Given the description of an element on the screen output the (x, y) to click on. 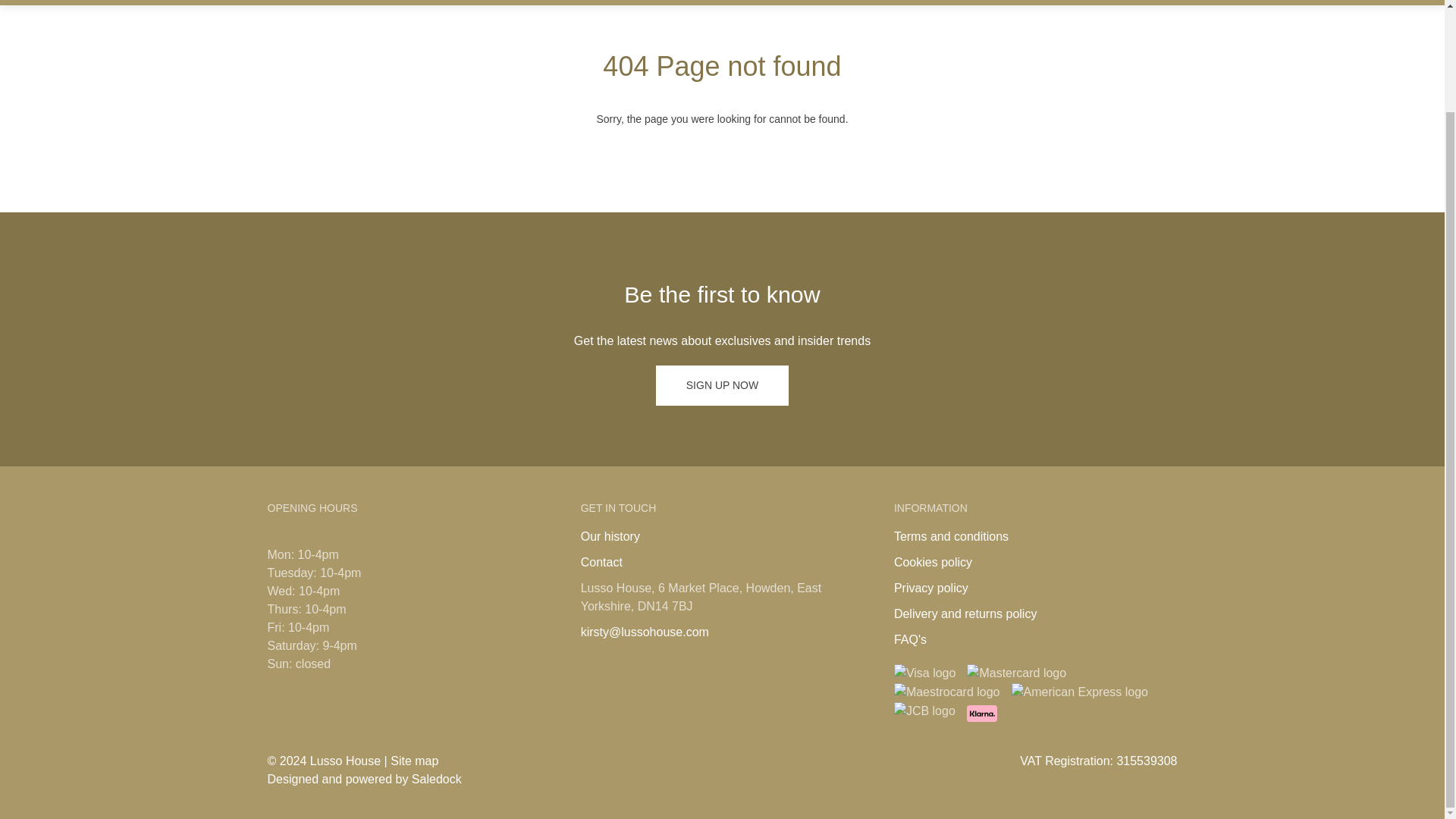
CANDLES AND DIFFUSERS (542, 2)
HOME ACCESSORIES (394, 2)
ARTIFICIAL PLANTS (684, 2)
